Given the description of an element on the screen output the (x, y) to click on. 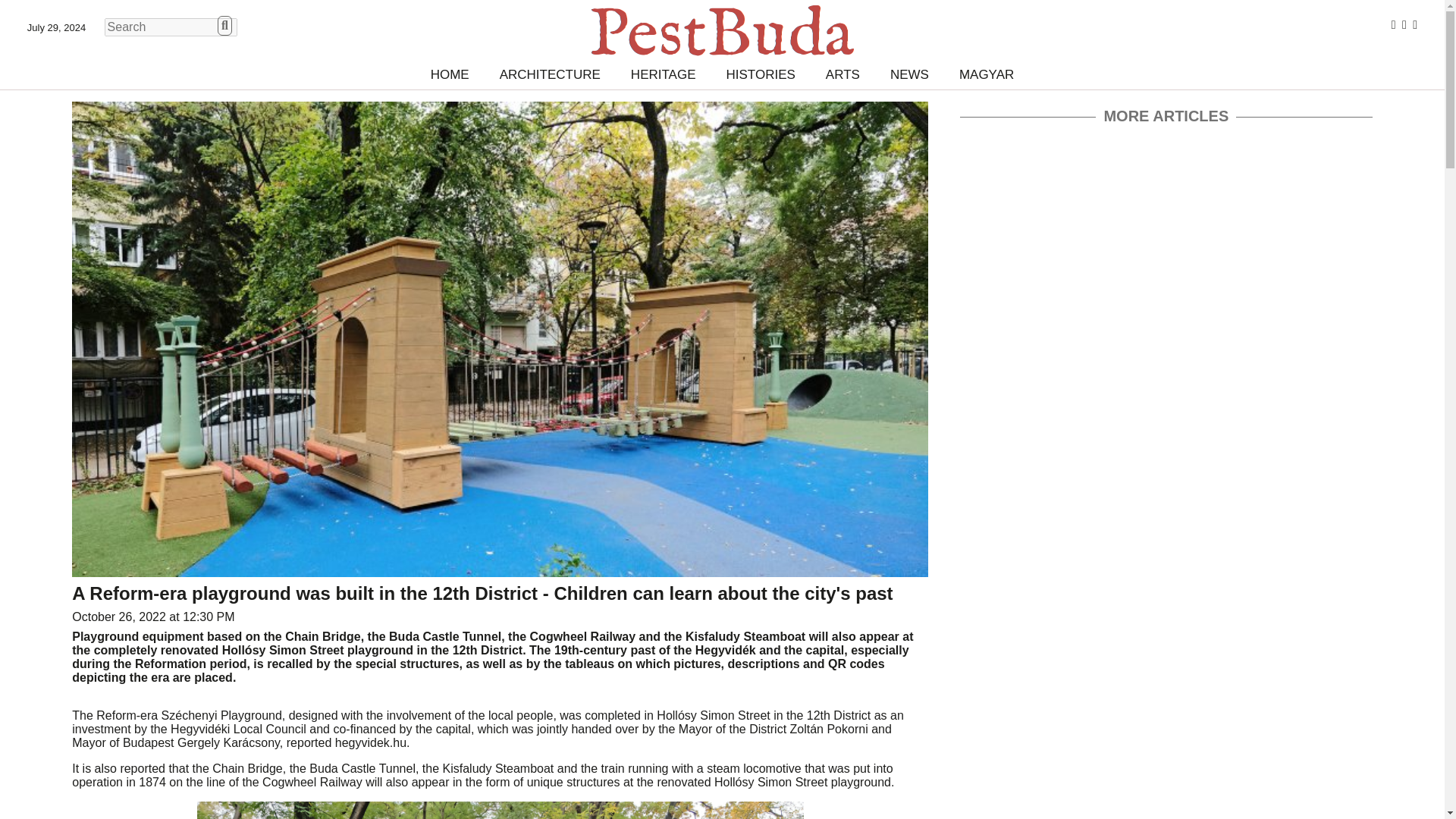
homepage (721, 30)
MAGYAR (986, 74)
ARTS (842, 74)
Search (223, 25)
ARCHITECTURE (549, 74)
login (1414, 24)
Facebook (1393, 24)
HOME (449, 74)
HERITAGE (663, 74)
HISTORIES (760, 74)
NEWS (909, 74)
Instagram (1404, 24)
